Given the description of an element on the screen output the (x, y) to click on. 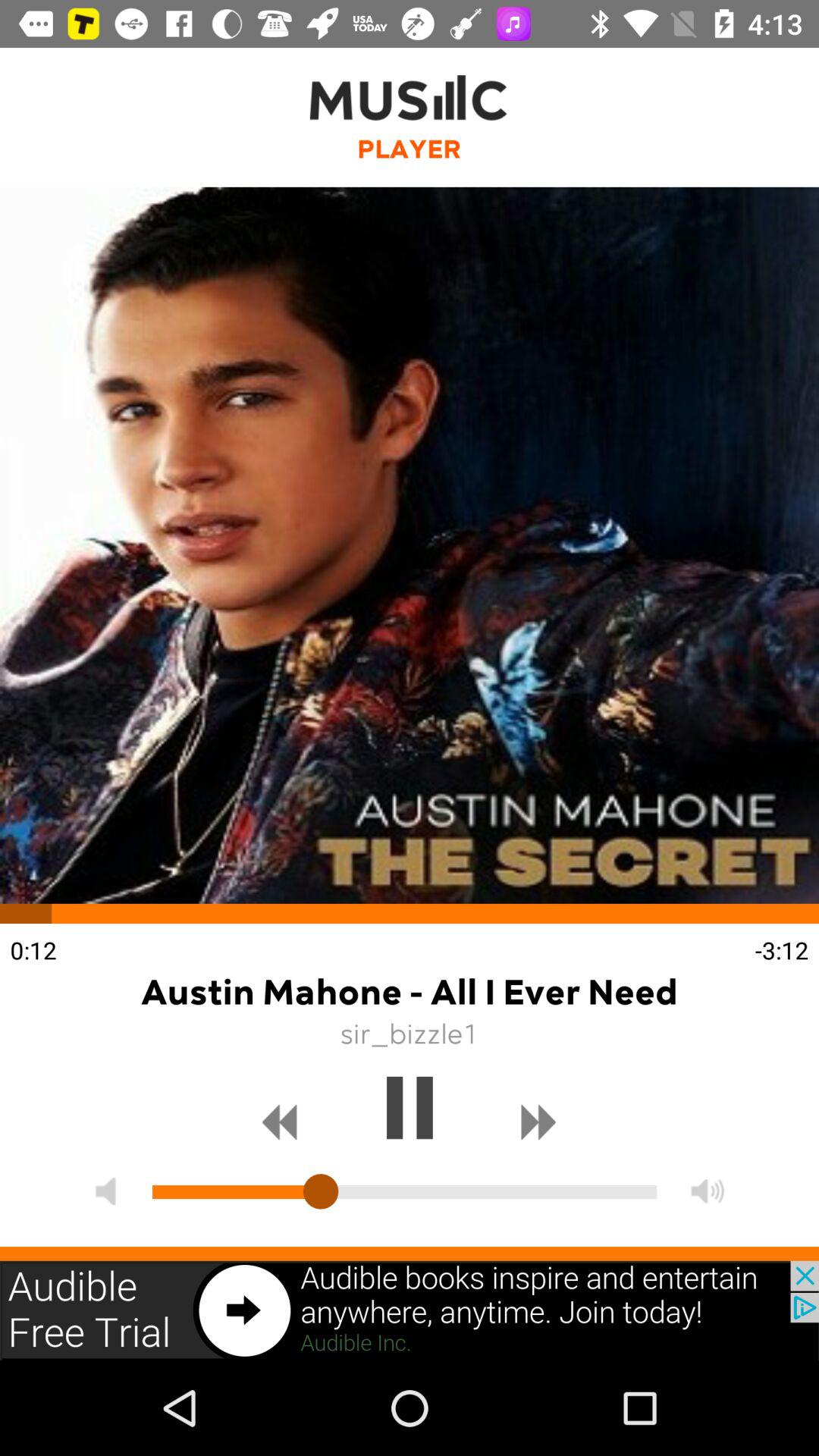
open advert (409, 1310)
